Given the description of an element on the screen output the (x, y) to click on. 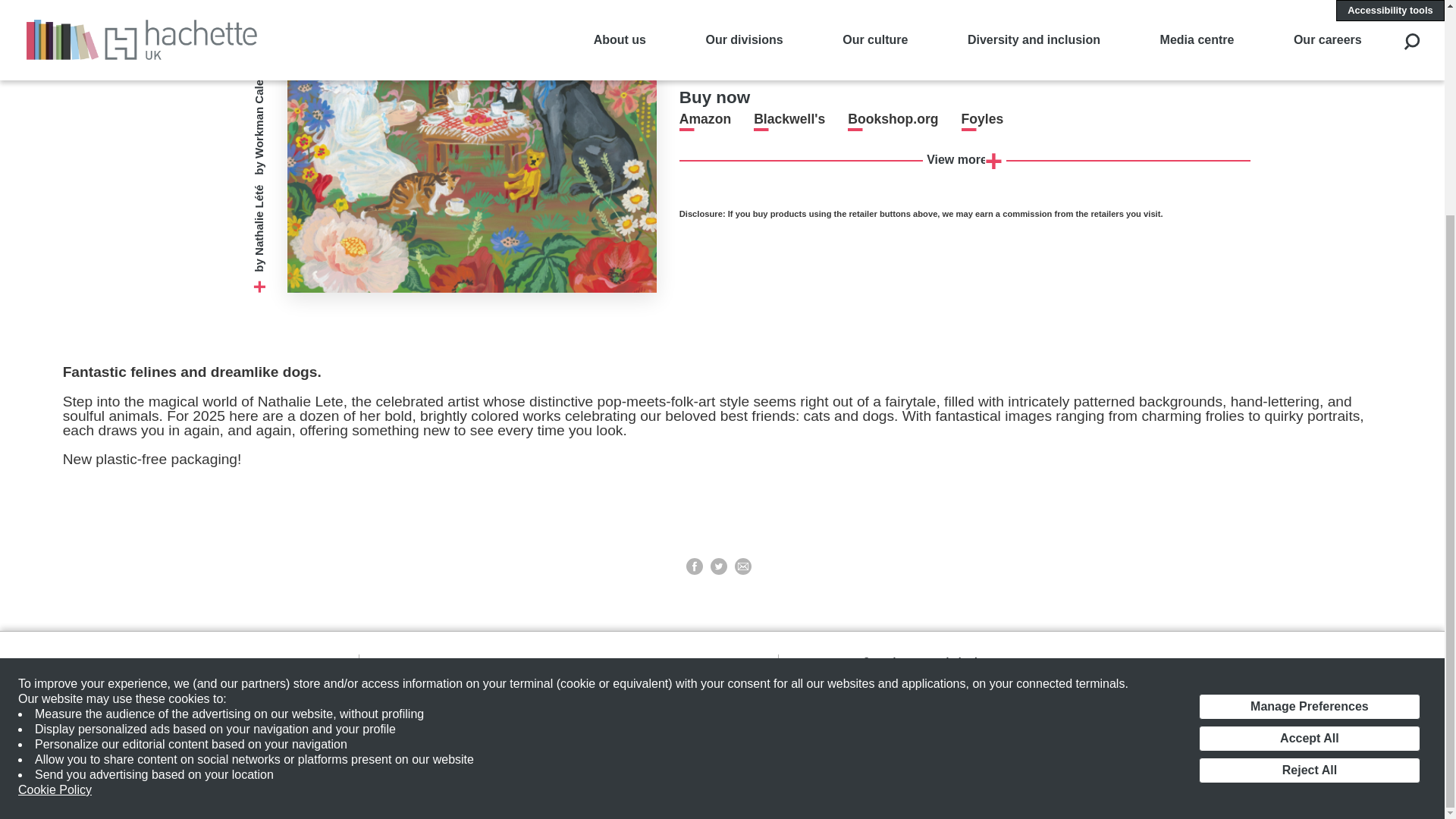
Reject All (1309, 488)
Cookie Policy (54, 507)
Accept All (1309, 456)
Manage Preferences (1309, 424)
